Given the description of an element on the screen output the (x, y) to click on. 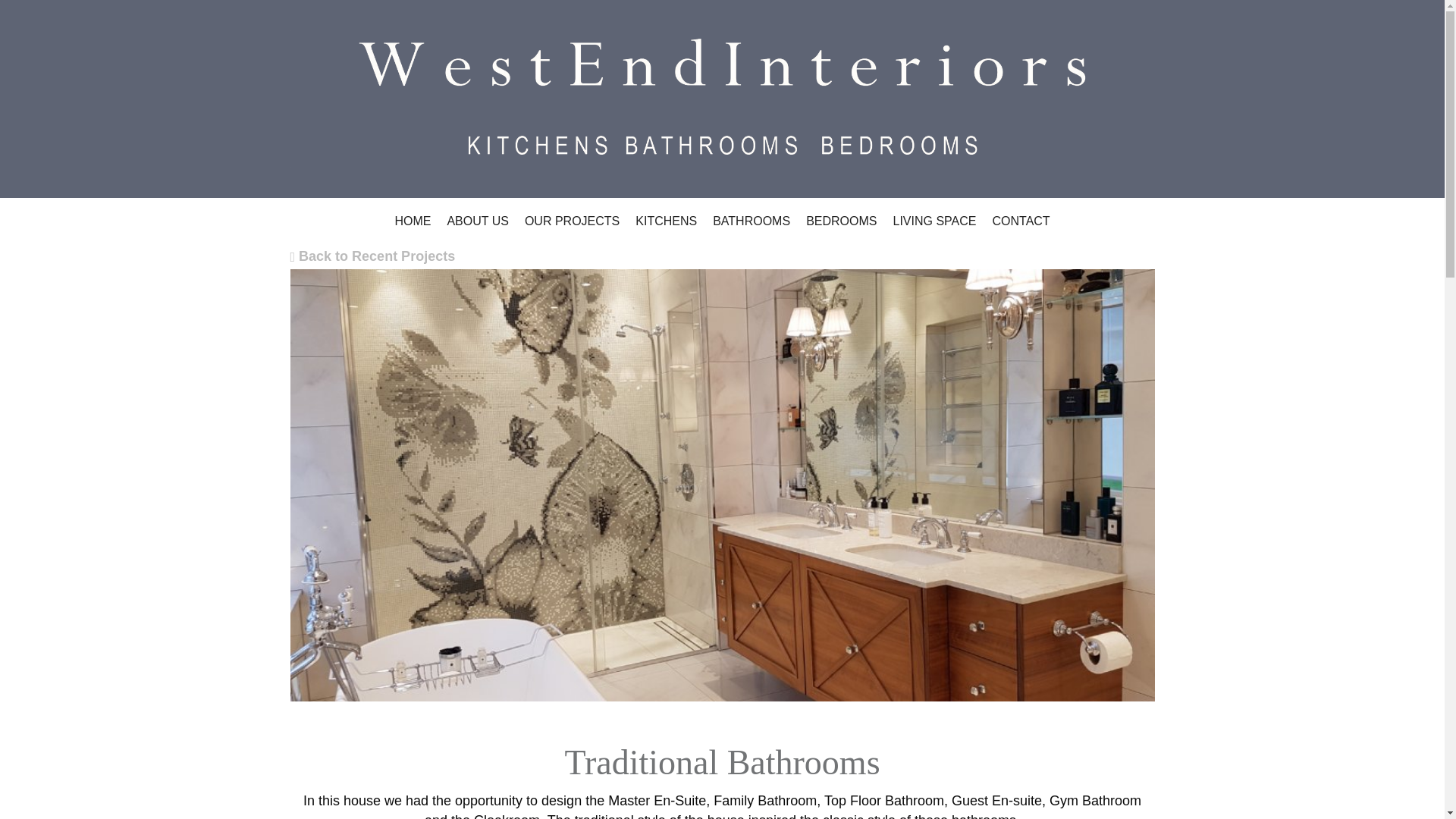
CONTACT (1020, 221)
OUR PROJECTS (572, 221)
HOME (412, 221)
BATHROOMS (751, 221)
KITCHENS (665, 221)
LIVING SPACE (934, 221)
Back to Recent Projects (371, 255)
ABOUT US (478, 221)
BEDROOMS (840, 221)
